Given the description of an element on the screen output the (x, y) to click on. 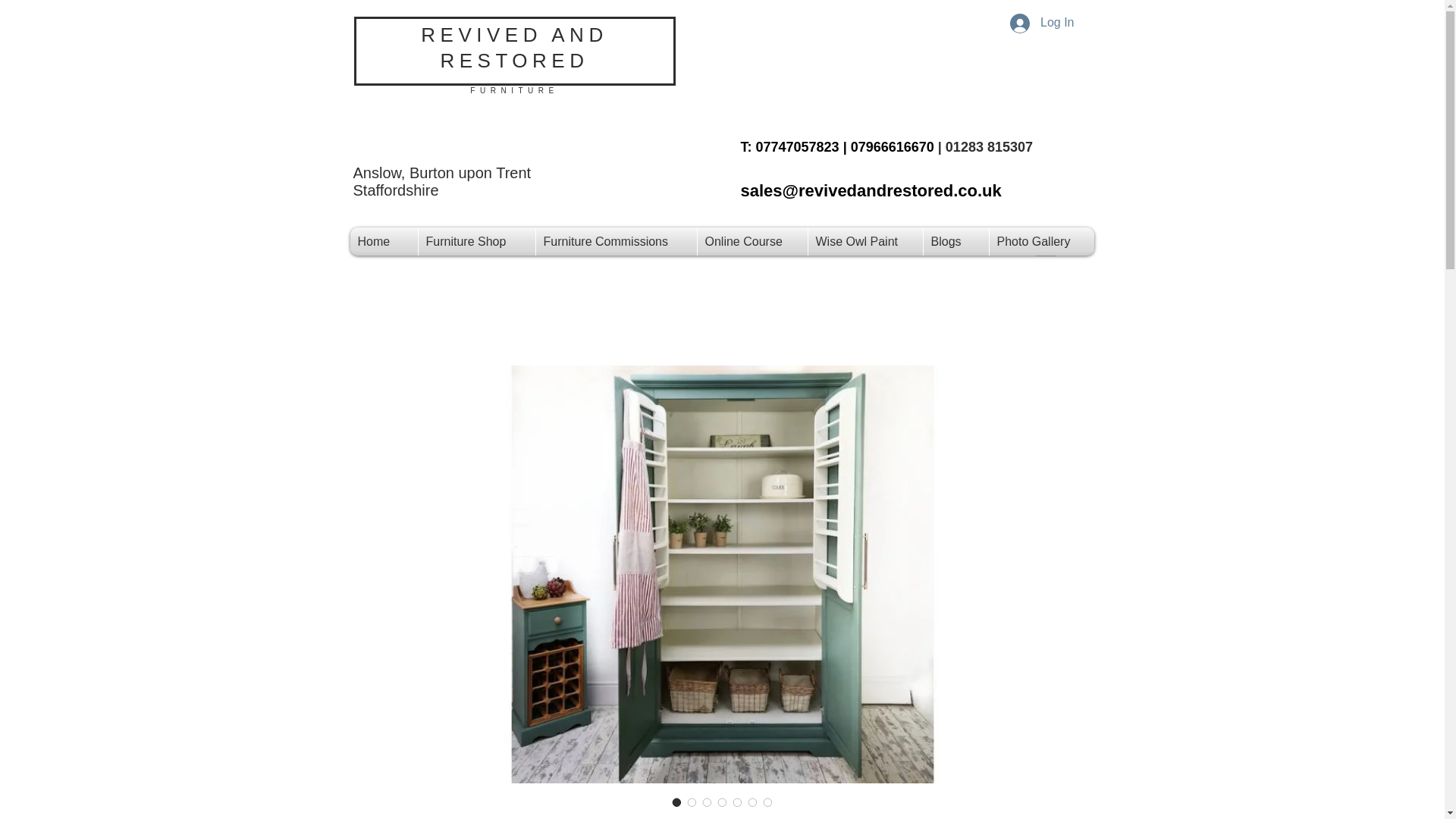
01283 815307 (988, 146)
Home (383, 241)
Log In (1041, 23)
Furniture Commissions (615, 241)
Photo Gallery (1040, 241)
07747057823 (796, 146)
T:  (747, 146)
Blogs (955, 241)
07966616670 (892, 146)
Online Course (752, 241)
